Given the description of an element on the screen output the (x, y) to click on. 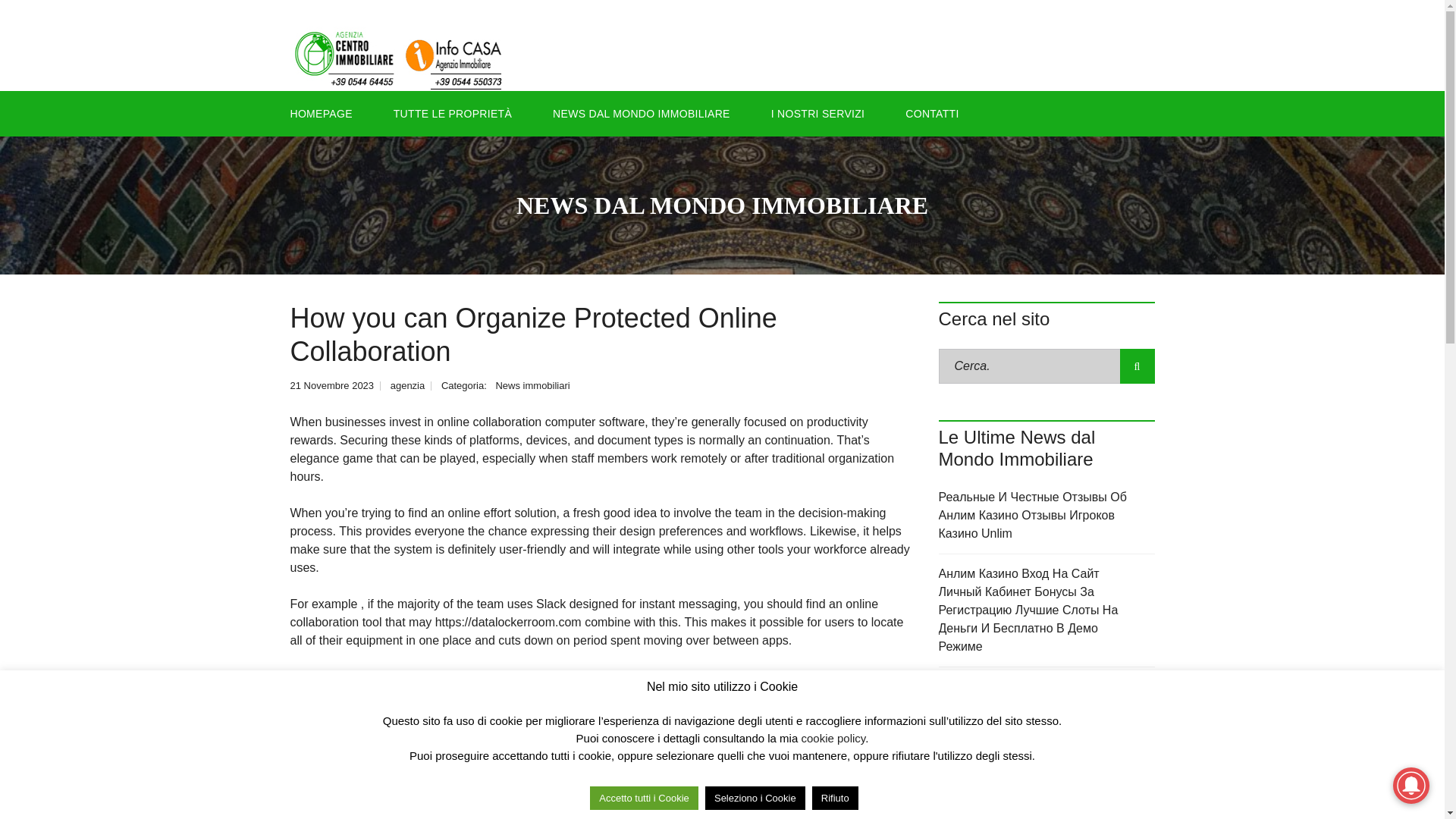
NEWS DAL MONDO IMMOBILIARE (641, 113)
Casino Bonusar 2024 (1046, 745)
News immobiliari (532, 385)
HOMEPAGE (327, 113)
I NOSTRI SERVIZI (817, 113)
CONTATTI (931, 113)
